Given the description of an element on the screen output the (x, y) to click on. 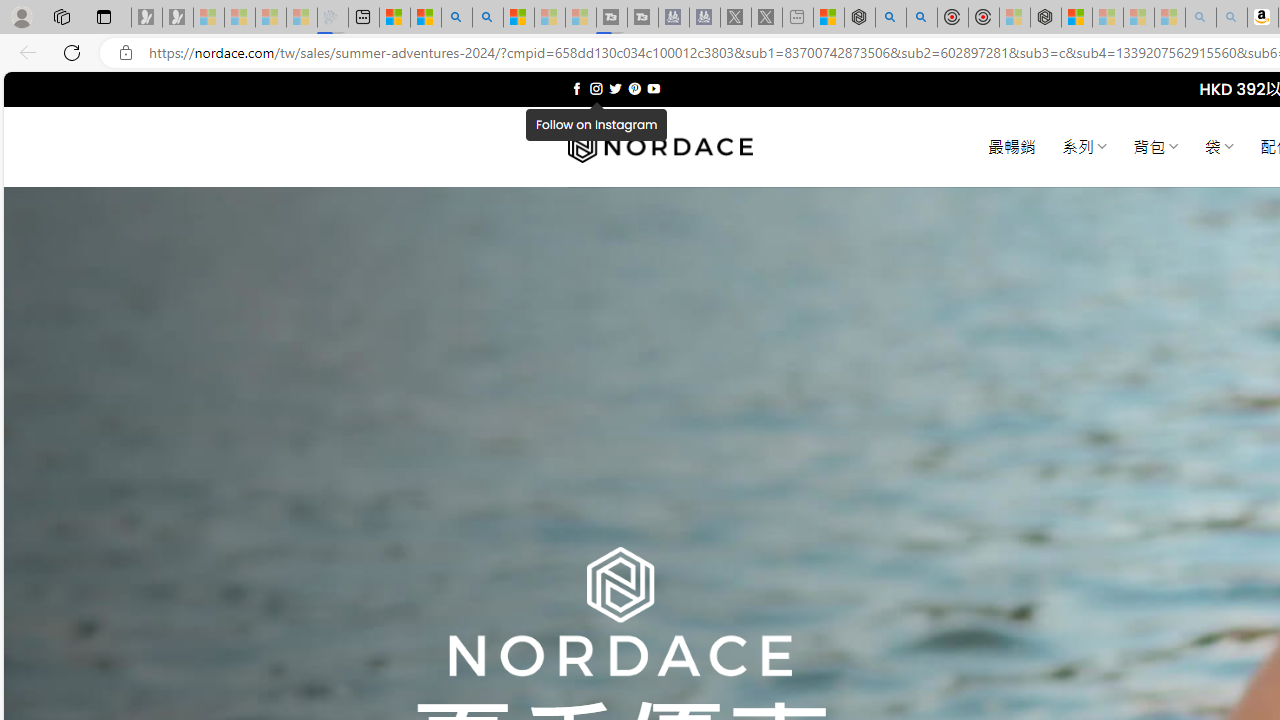
poe - Search (890, 17)
Follow on Facebook (576, 88)
Nordace - Summer Adventures 2024 (859, 17)
Streaming Coverage | T3 - Sleeping (611, 17)
View site information (125, 53)
New tab - Sleeping (797, 17)
Newsletter Sign Up - Sleeping (177, 17)
X - Sleeping (766, 17)
